Given the description of an element on the screen output the (x, y) to click on. 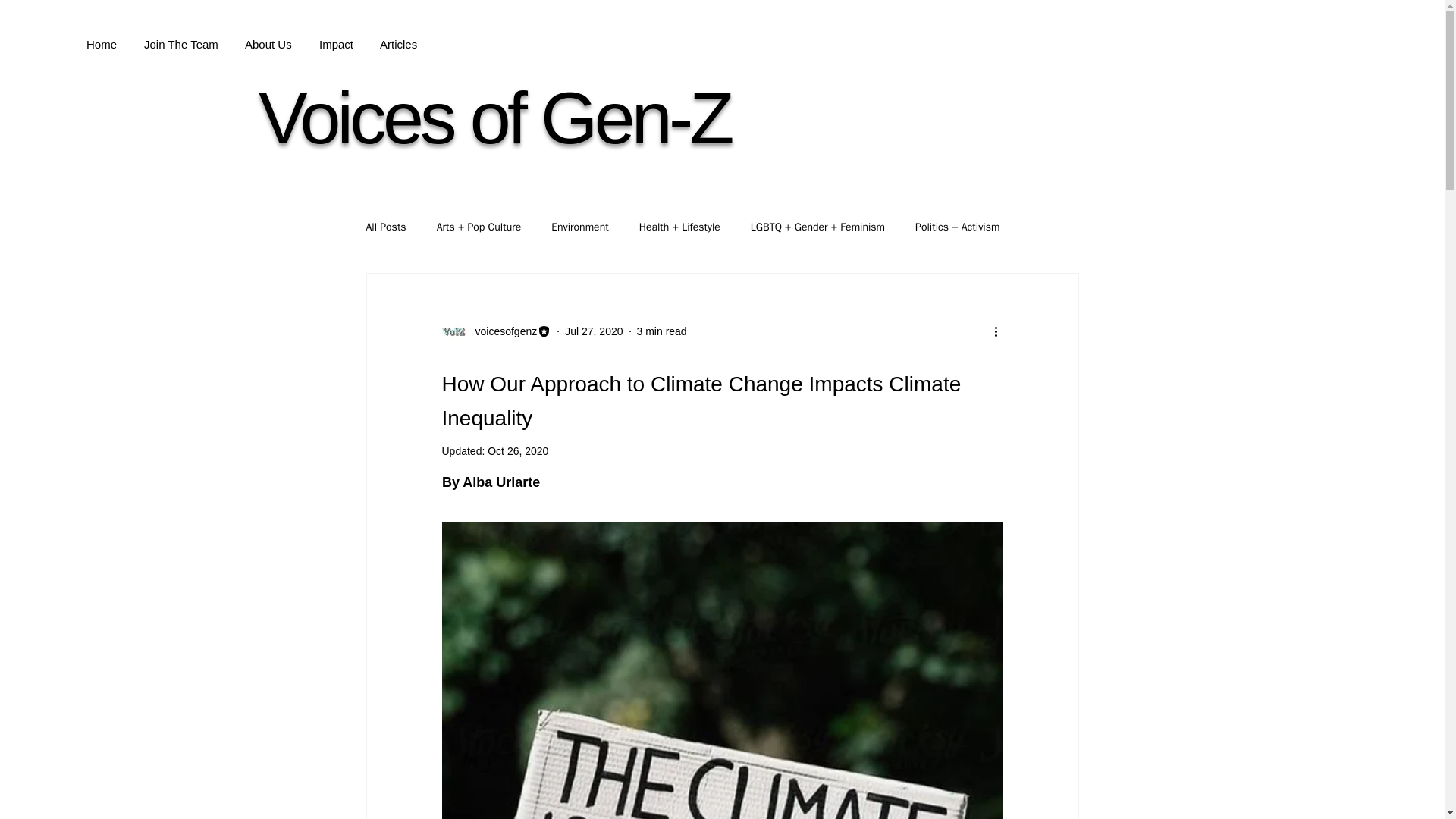
Home (101, 37)
Jul 27, 2020 (593, 330)
Voices of Gen-Z (494, 117)
Join The Team (181, 37)
Articles (397, 37)
3 min read (662, 330)
Oct 26, 2020 (517, 451)
All Posts (385, 227)
Impact (335, 37)
Environment (579, 227)
